Given the description of an element on the screen output the (x, y) to click on. 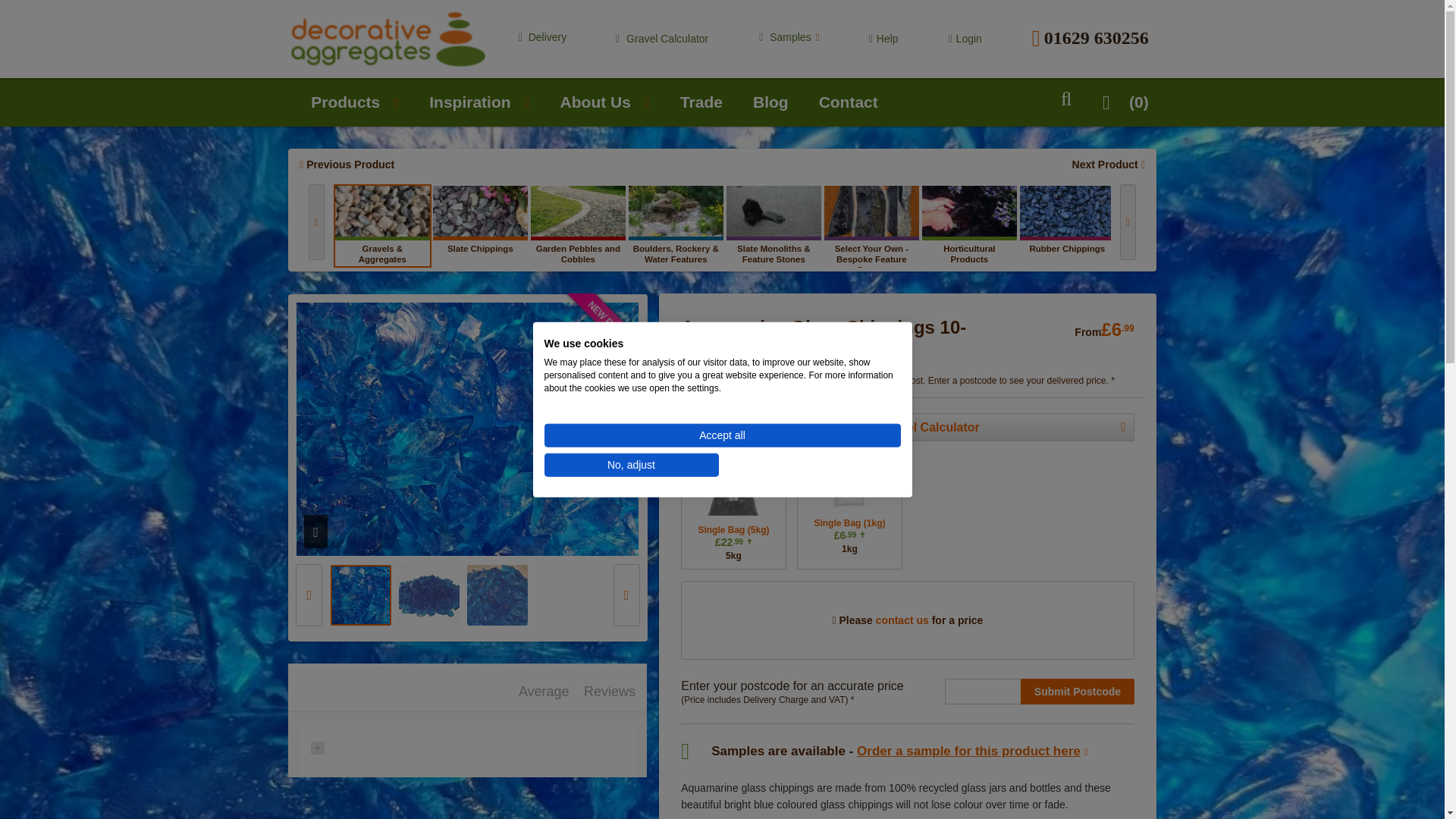
Gravel Calculator (661, 39)
Decorative Aggregates (387, 38)
Help (883, 39)
Reviews Widget (467, 738)
Login (964, 39)
